Given the description of an element on the screen output the (x, y) to click on. 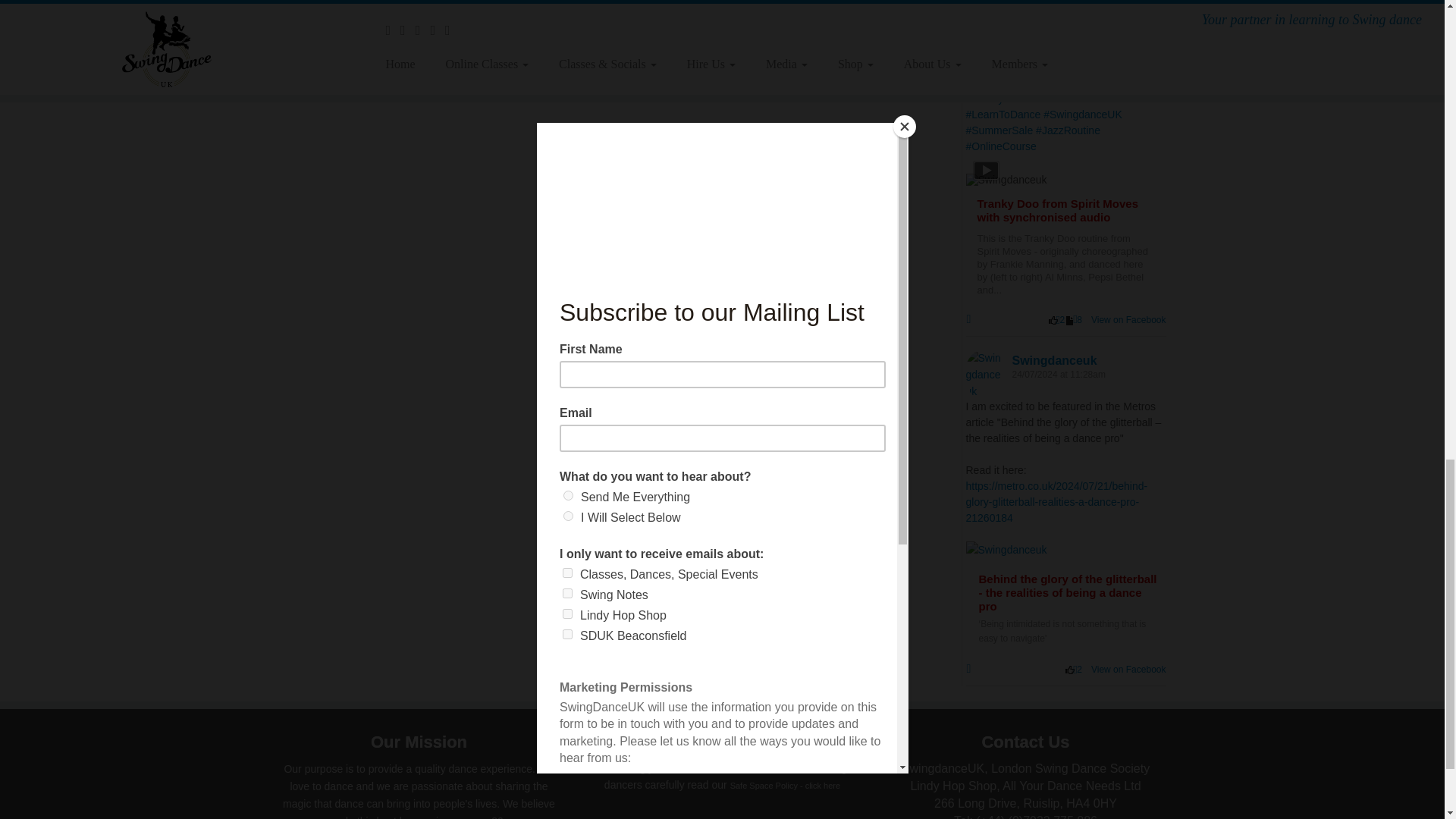
Social Share Options (972, 319)
